Given the description of an element on the screen output the (x, y) to click on. 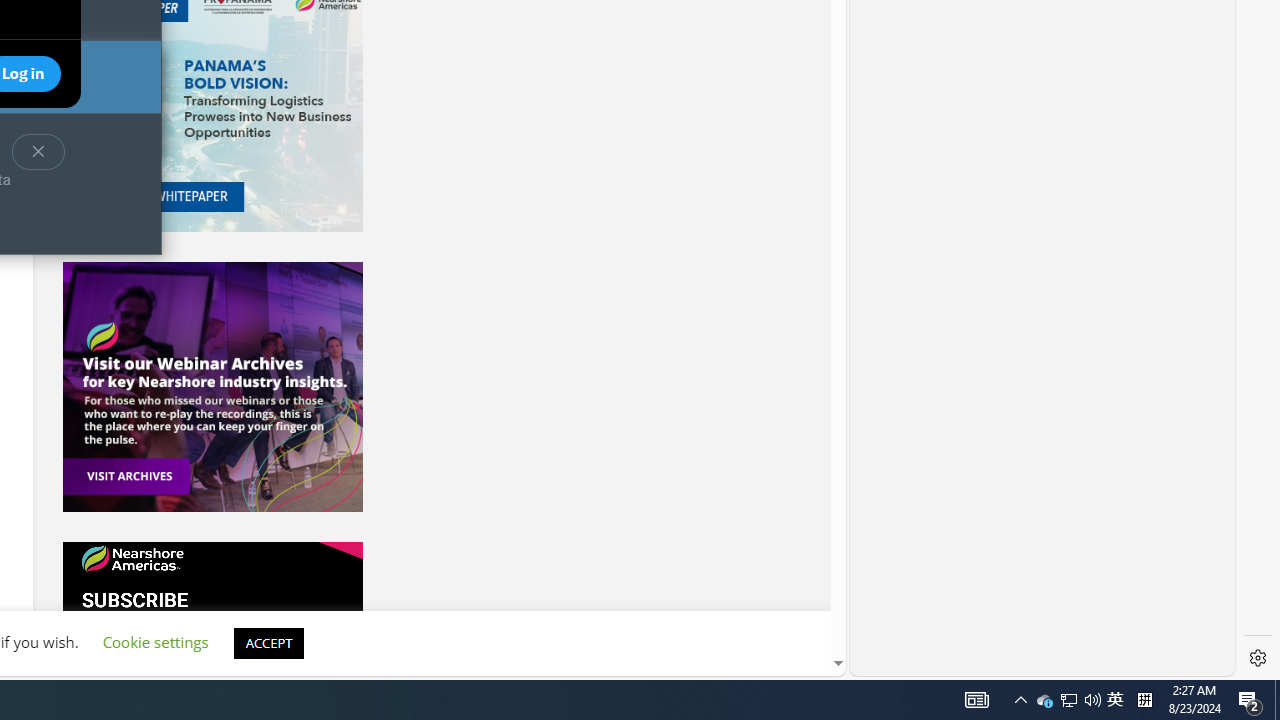
Events-Banner-Ad.jpg (1115, 699)
Cookie settings (1044, 699)
Events-Banner-Ad.jpg (212, 386)
